Given the description of an element on the screen output the (x, y) to click on. 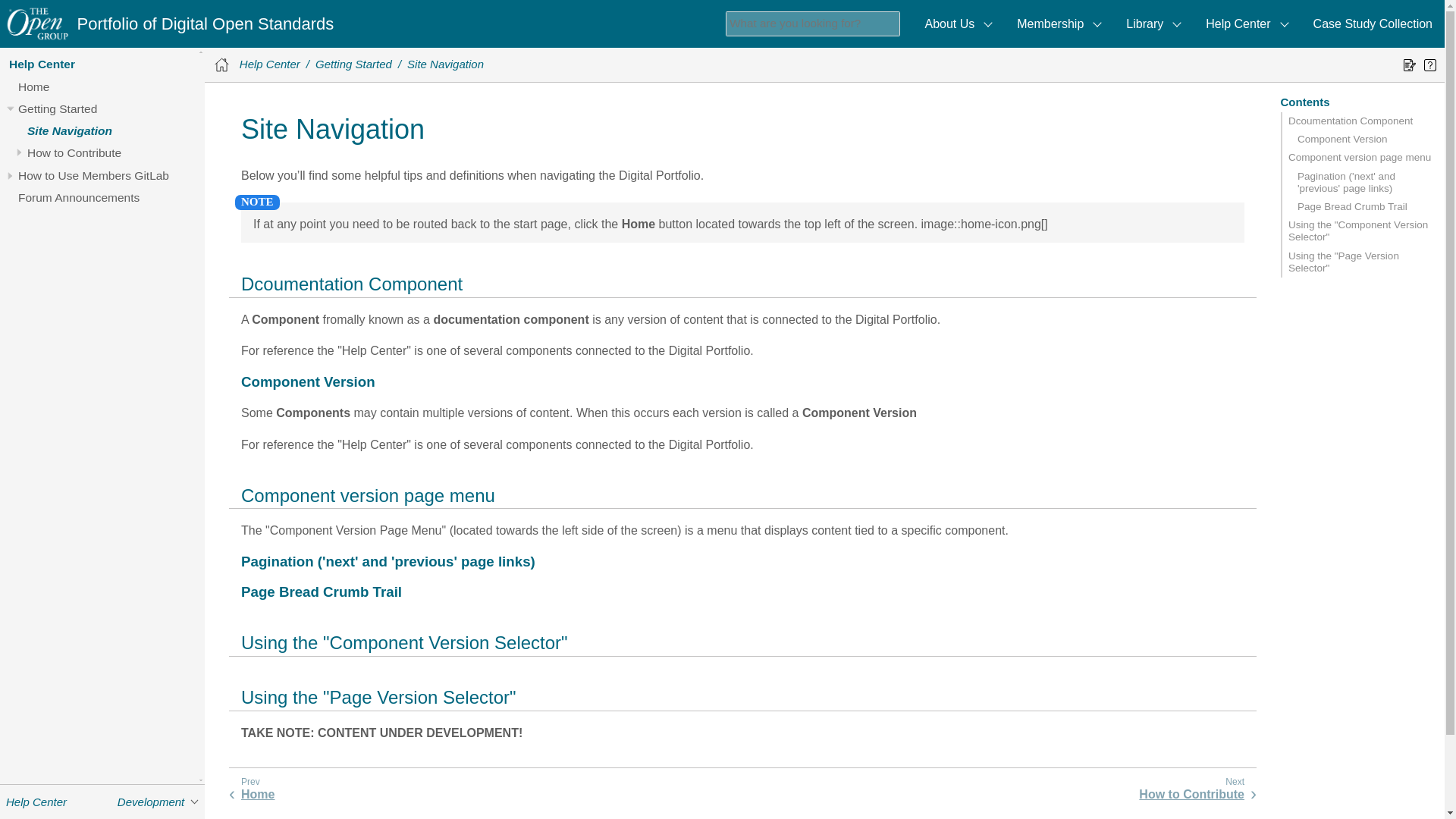
Help Center (1246, 23)
Help Center (41, 63)
Membership (1058, 23)
Library (1153, 23)
About Us (958, 23)
Home (33, 86)
Site Navigation (69, 130)
Portfolio of Digital Open Standards (205, 23)
Note (257, 201)
How to Contribute (73, 151)
